Given the description of an element on the screen output the (x, y) to click on. 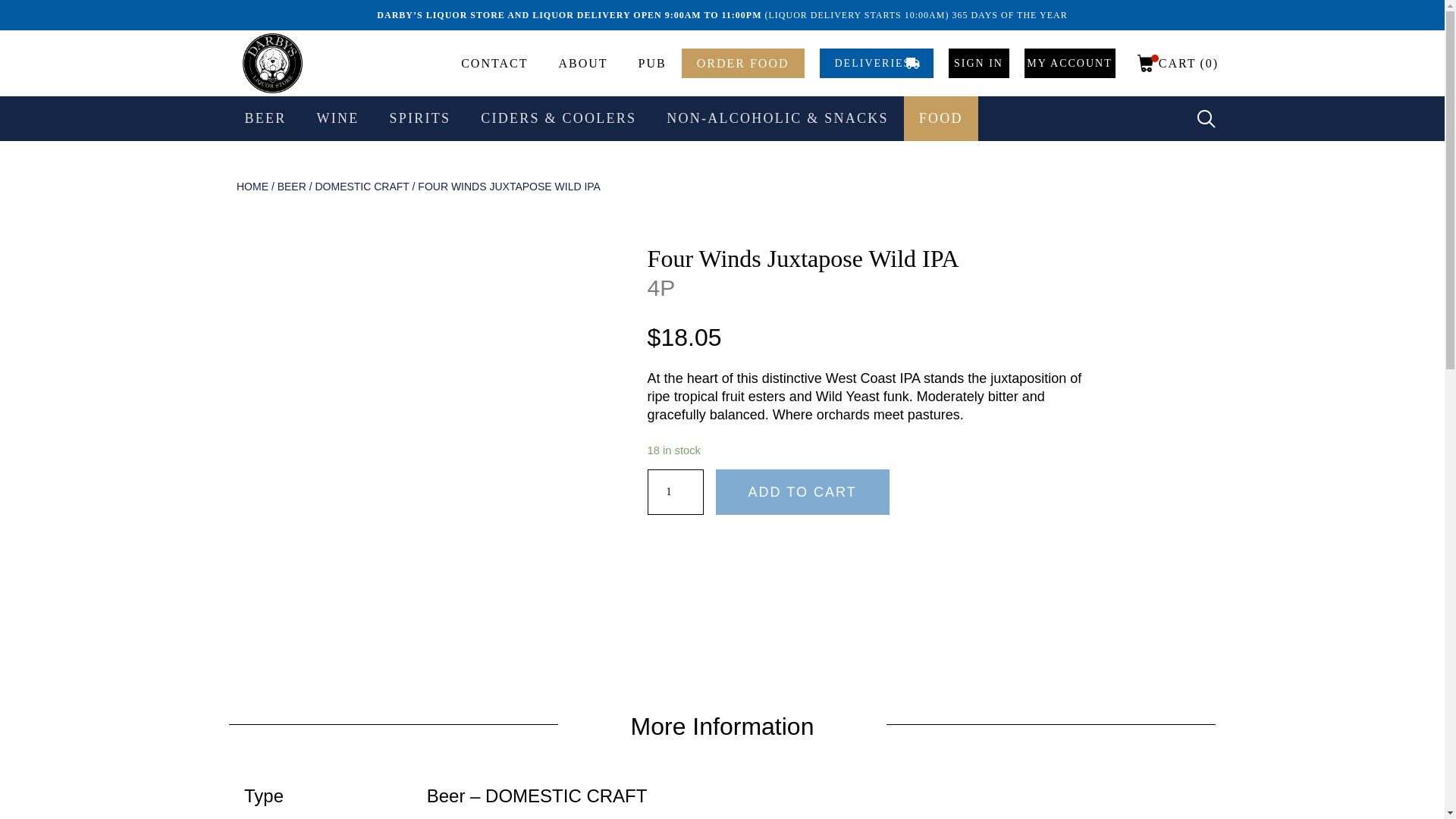
DELIVERIES (875, 62)
ABOUT (583, 62)
WINE (337, 118)
1 (675, 492)
MY ACCOUNT (1069, 62)
PUB (652, 62)
ORDER FOOD (743, 62)
BEER (264, 118)
CONTACT (494, 62)
SIGN IN (978, 62)
